Given the description of an element on the screen output the (x, y) to click on. 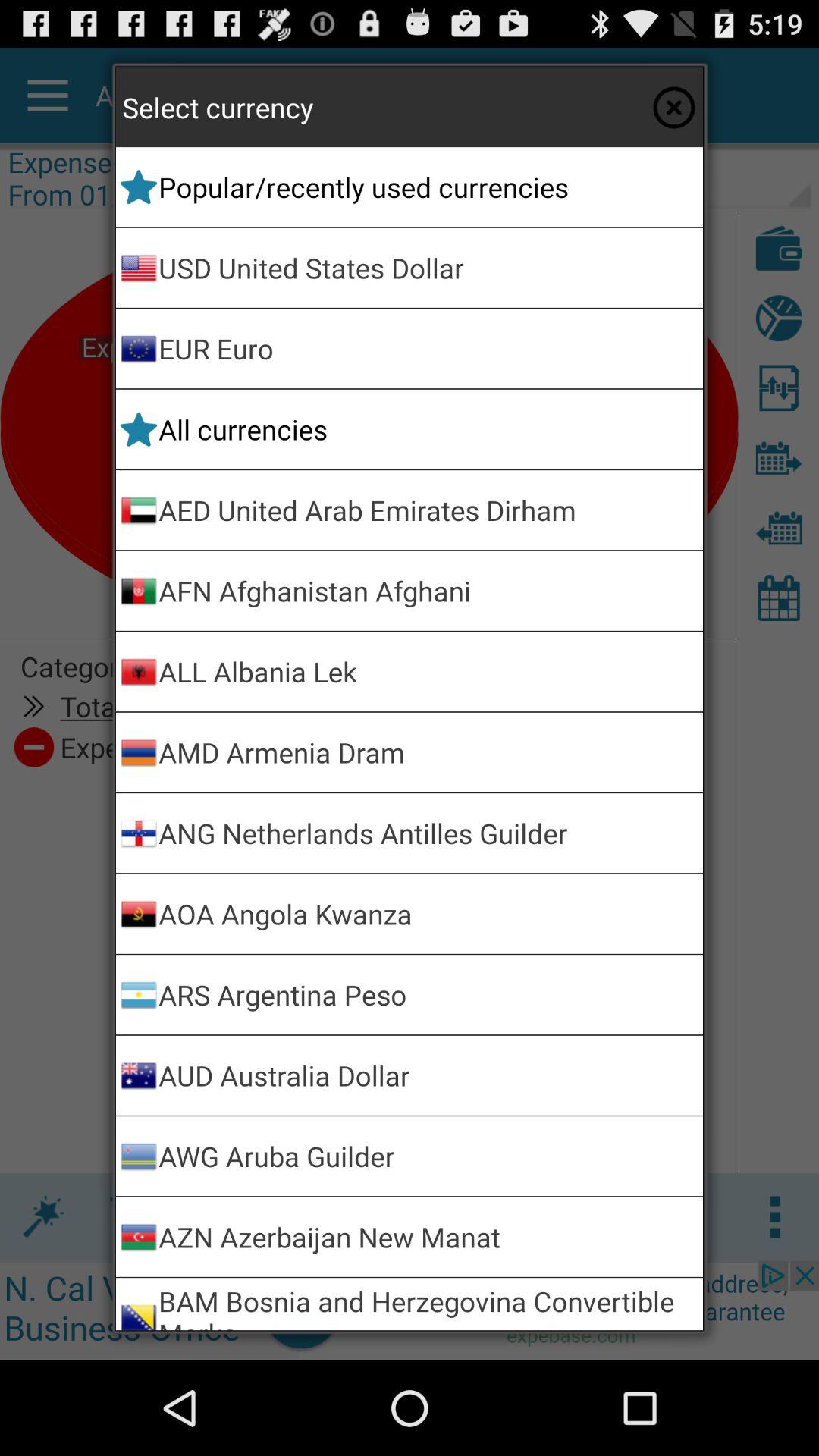
press eur euro (427, 348)
